Given the description of an element on the screen output the (x, y) to click on. 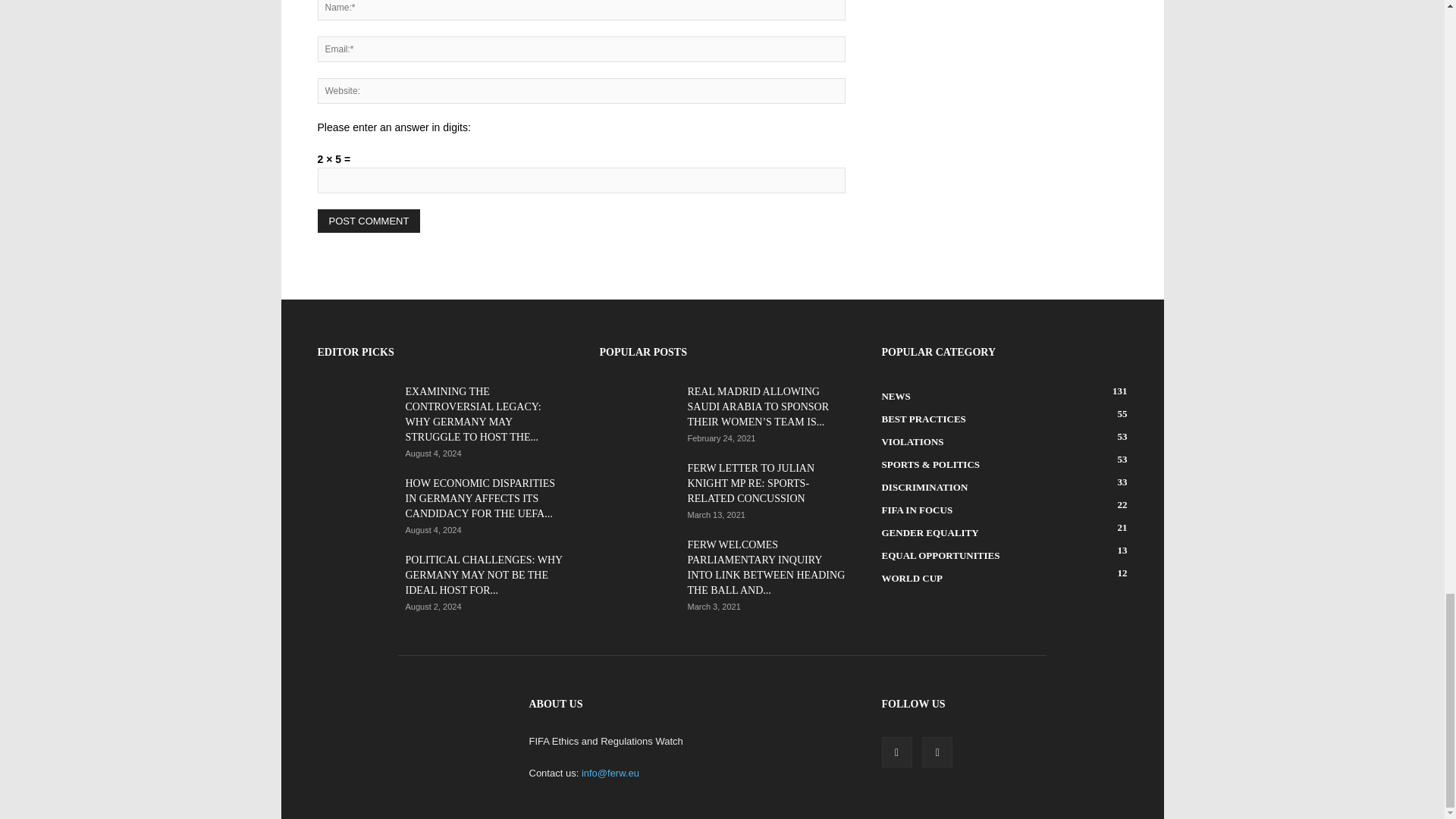
Post Comment (368, 220)
